Given the description of an element on the screen output the (x, y) to click on. 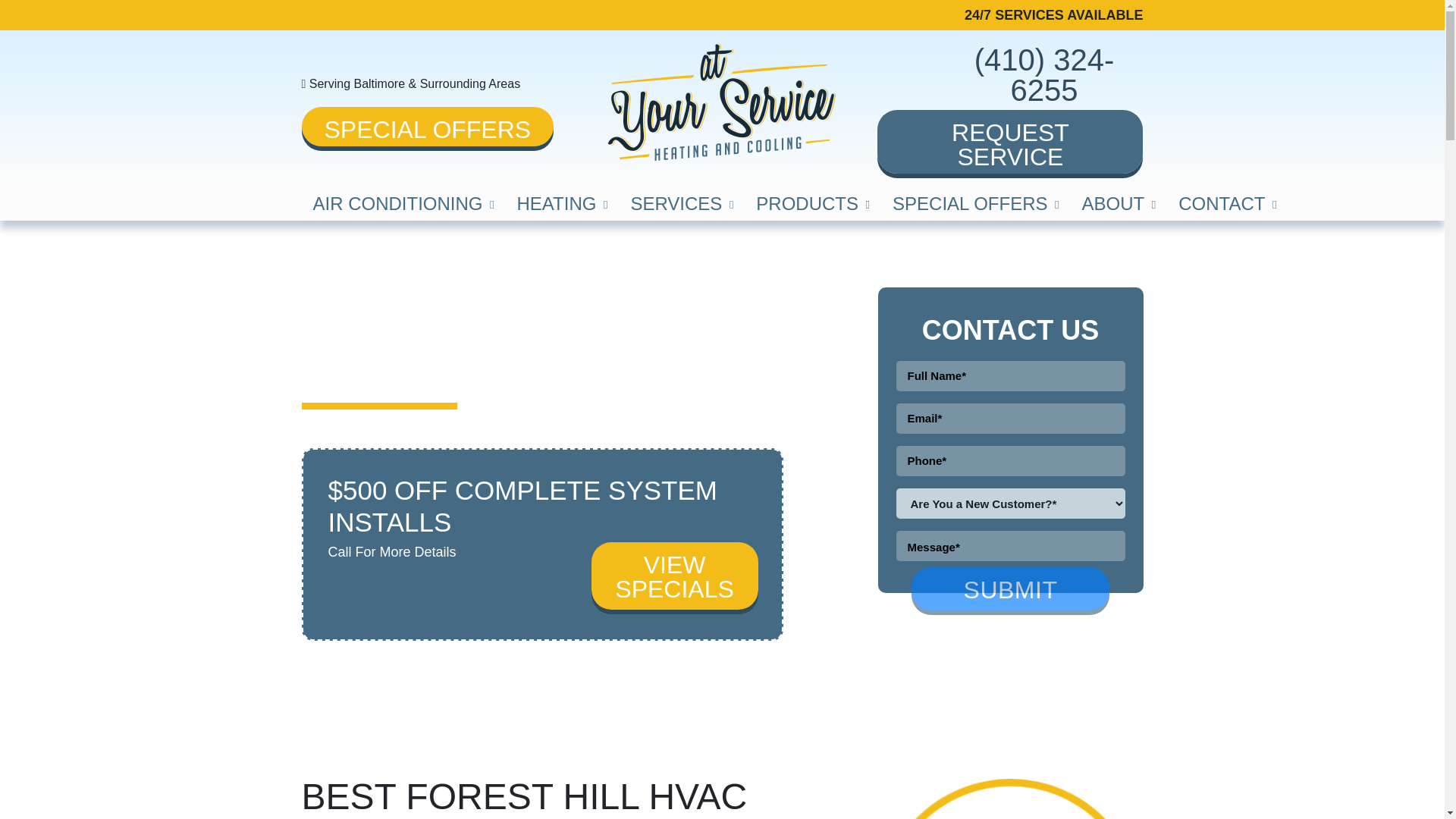
REQUEST SERVICE (1009, 141)
ABOUT (1118, 204)
HEATING (562, 204)
SPECIAL OFFERS (975, 204)
AIR CONDITIONING (403, 204)
Submit (1010, 588)
SERVICES (681, 204)
VIEW SPECIALS (674, 575)
SPECIAL OFFERS (427, 125)
PRODUCTS (812, 204)
